Given the description of an element on the screen output the (x, y) to click on. 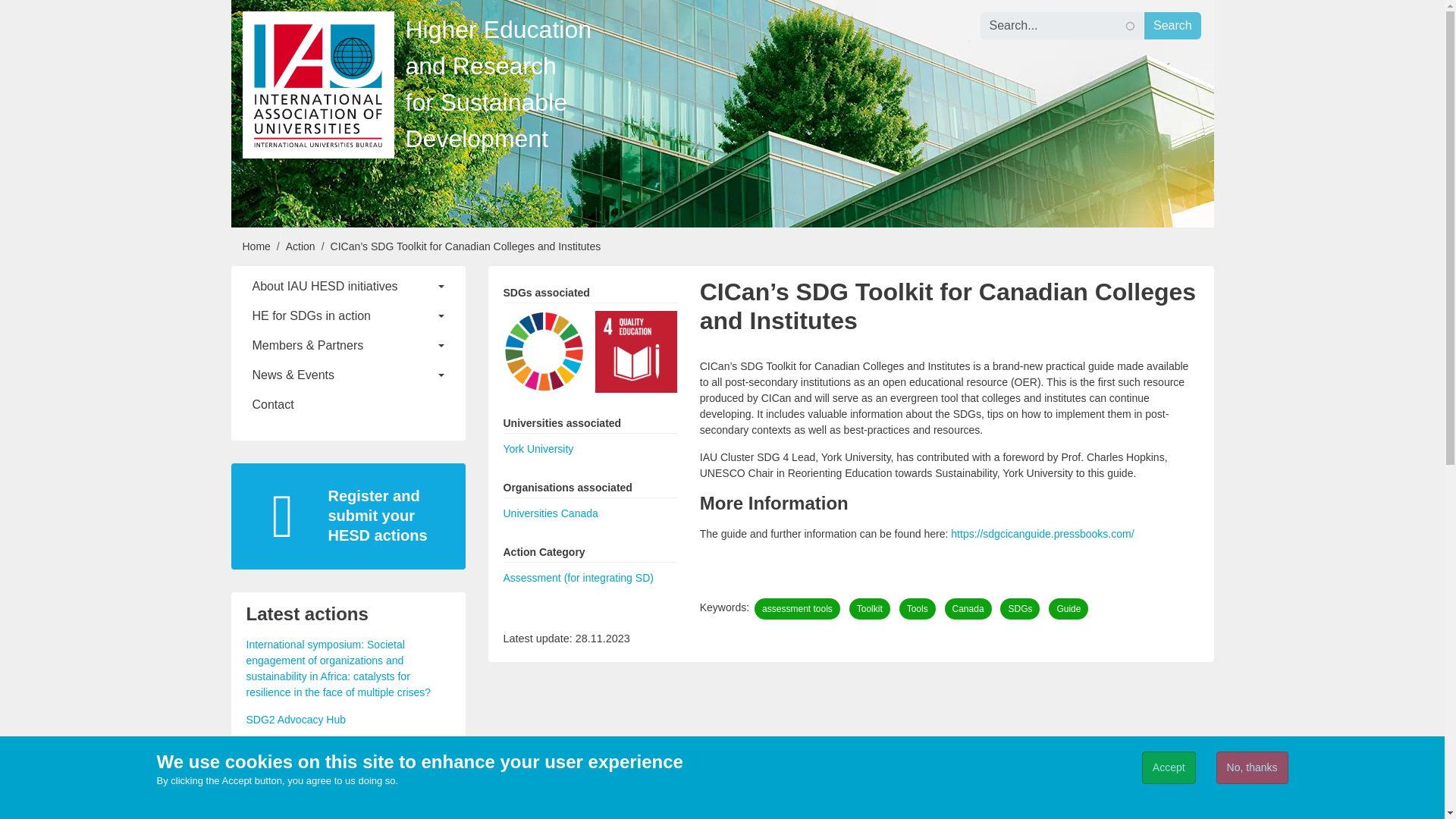
Expand menu About IAU HESD initiatives (347, 286)
About IAU HESD initiatives (347, 286)
Home (318, 84)
Search (1172, 25)
Skip to main content (53, 9)
Search (1172, 25)
Home (256, 246)
HE for SDGs in action (347, 316)
